Given the description of an element on the screen output the (x, y) to click on. 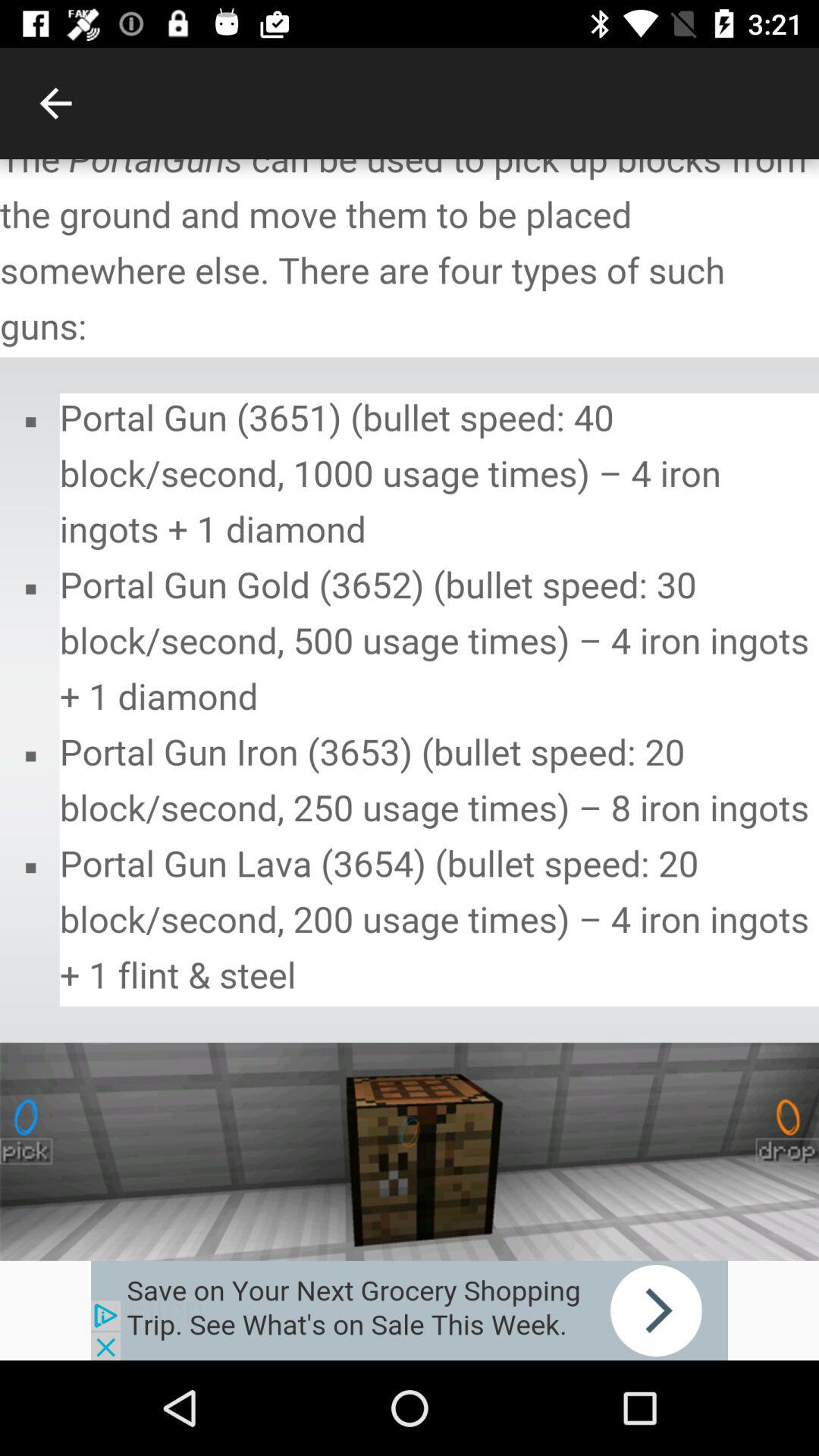
try this promotion (409, 1310)
